Given the description of an element on the screen output the (x, y) to click on. 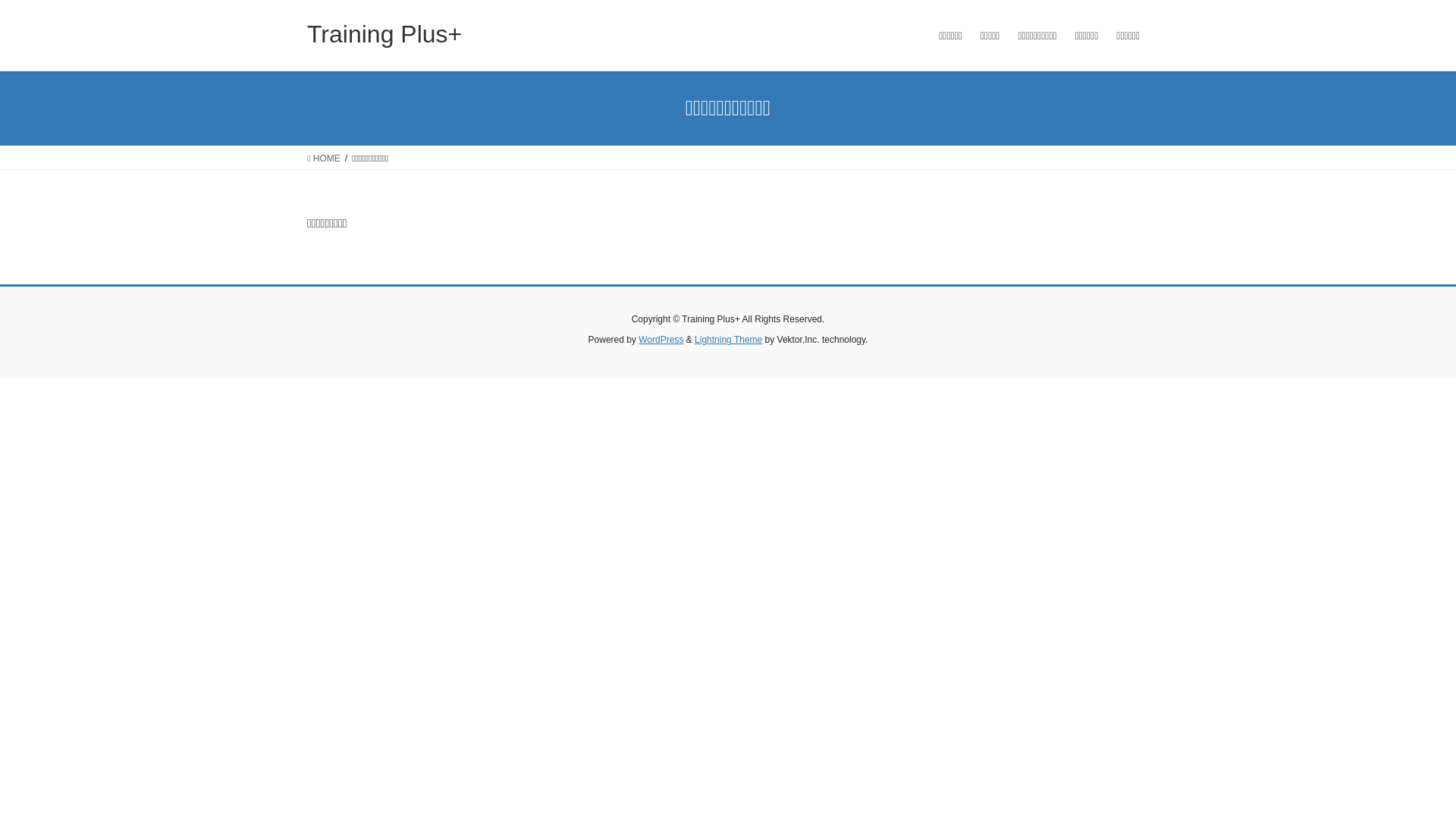
Training Plus+ Element type: text (384, 33)
Lightning Theme Element type: text (728, 339)
HOME Element type: text (323, 157)
WordPress Element type: text (660, 339)
